Given the description of an element on the screen output the (x, y) to click on. 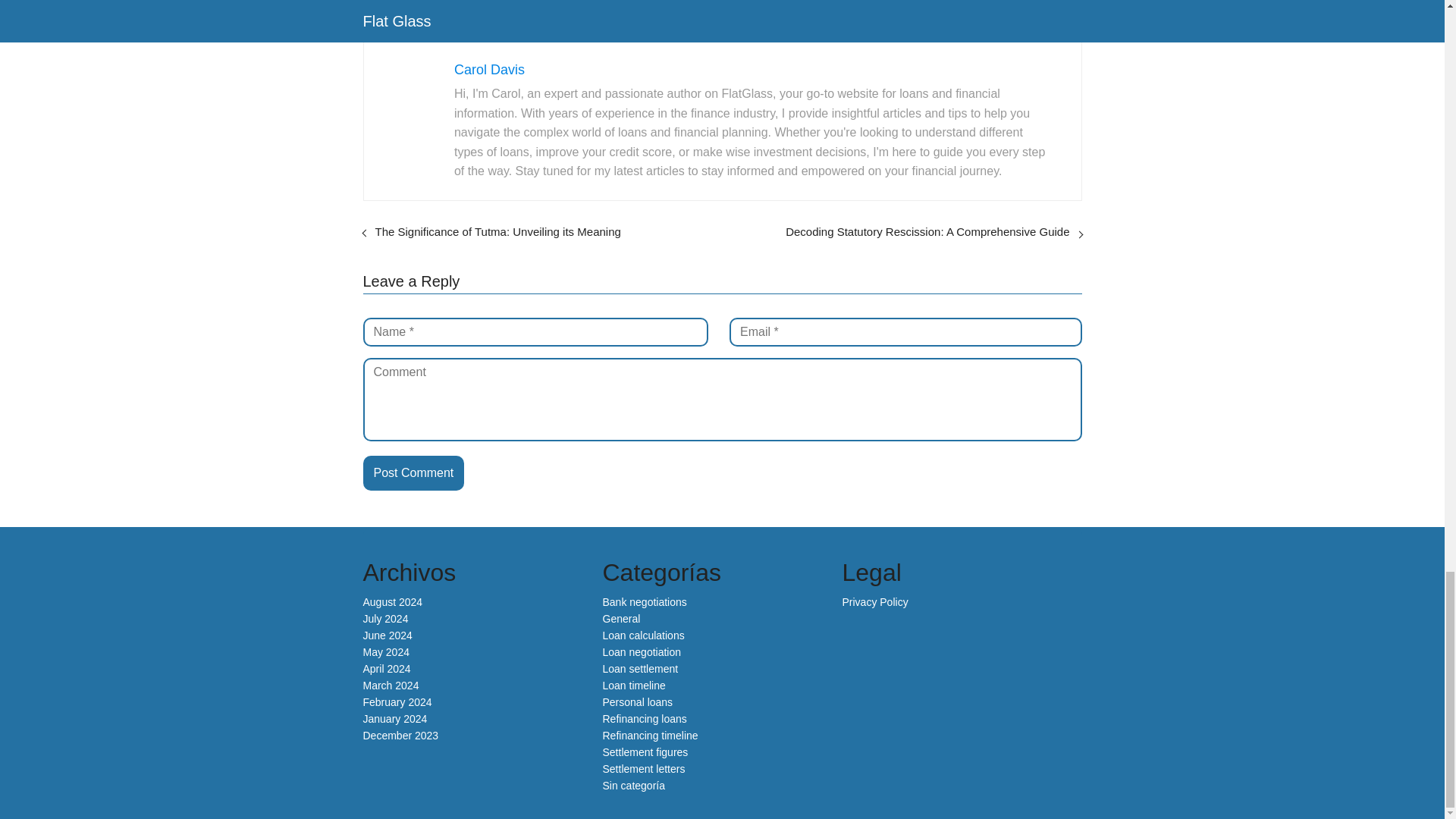
Carol Davis (489, 69)
August 2024 (392, 602)
March 2024 (390, 685)
April 2024 (386, 668)
Refinancing loans (643, 718)
Loan timeline (633, 685)
Loan negotiation (641, 652)
The Significance of Tutma: Unveiling its Meaning (497, 231)
June 2024 (387, 635)
General (621, 618)
